Given the description of an element on the screen output the (x, y) to click on. 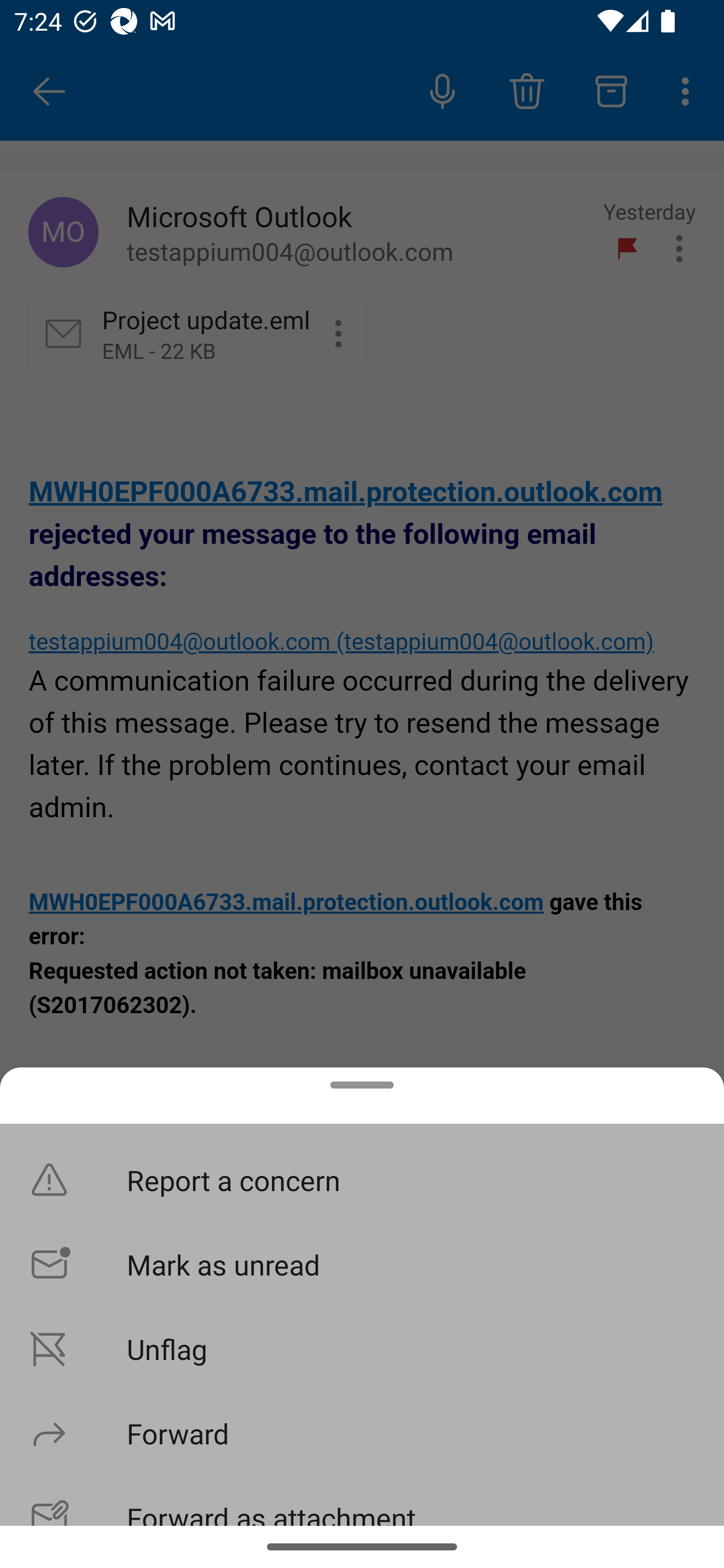
Report a concern (362, 1179)
Mark as unread (362, 1263)
Unflag (362, 1348)
Forward (362, 1432)
Forward as attachment (362, 1500)
